Given the description of an element on the screen output the (x, y) to click on. 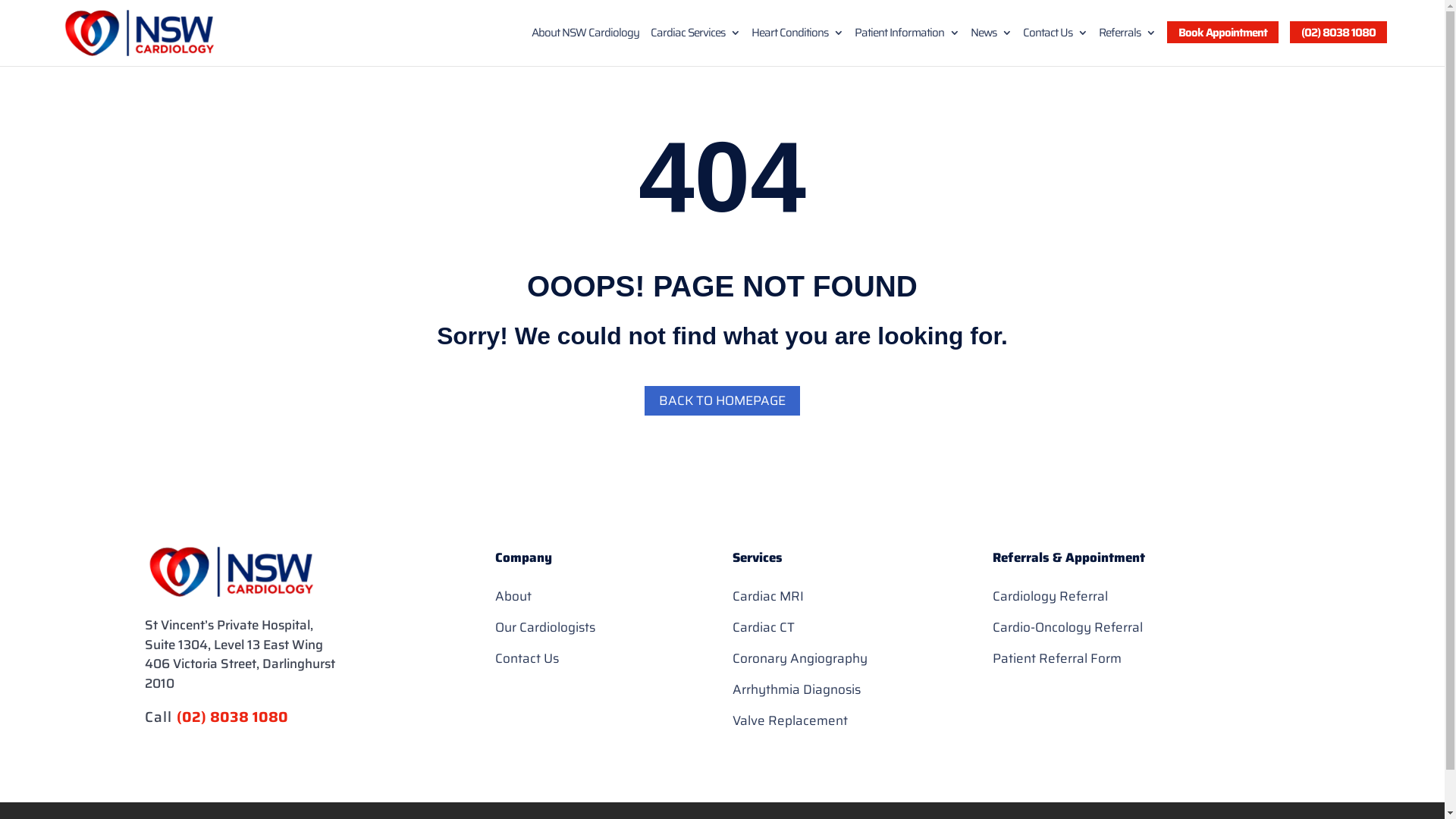
BACK TO HOMEPAGE Element type: text (722, 400)
Heart Conditions Element type: text (797, 44)
Contact Us Element type: text (526, 658)
Our Cardiologists Element type: text (545, 627)
Cardiac CT Element type: text (763, 627)
Cardiology Referral Element type: text (1049, 595)
Valve Replacement Element type: text (789, 720)
Book Appointment Element type: text (1222, 32)
Contact Us Element type: text (1054, 44)
(02) 8038 1080 Element type: text (1337, 32)
Coronary Angiography Element type: text (799, 658)
(02) 8038 1080 Element type: text (231, 716)
News Element type: text (990, 44)
Patient Referral Form Element type: text (1056, 658)
About NSW Cardiology Element type: text (585, 44)
Patient Information Element type: text (906, 44)
Referrals Element type: text (1126, 44)
Cardiac MRI Element type: text (767, 595)
About Element type: text (513, 595)
Arrhythmia Diagnosis Element type: text (796, 689)
Cardio-Oncology Referral Element type: text (1067, 627)
Cardiac Services Element type: text (695, 44)
